Given the description of an element on the screen output the (x, y) to click on. 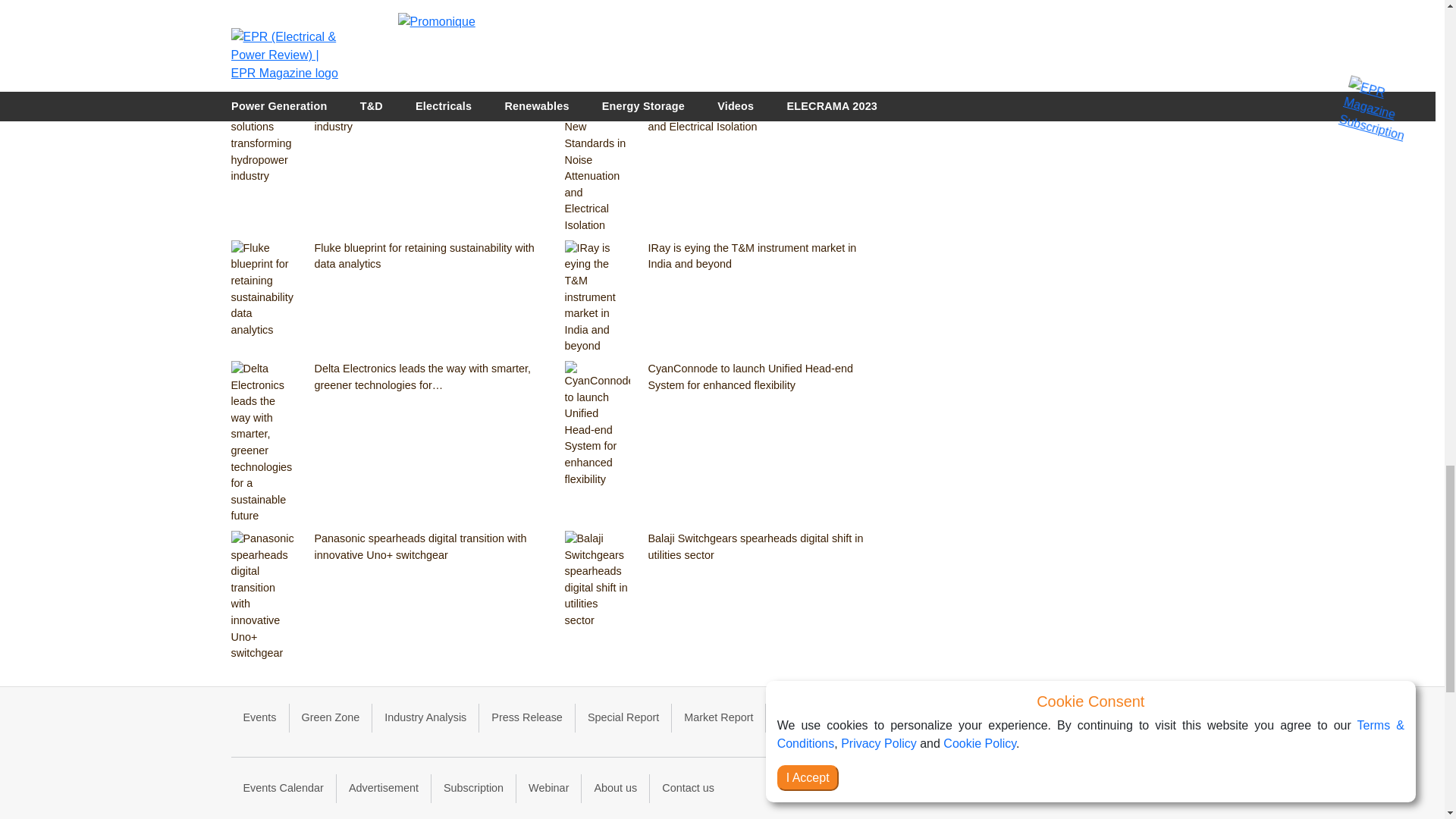
Ingenious solutions transforming hydropower industry  (430, 119)
